Given the description of an element on the screen output the (x, y) to click on. 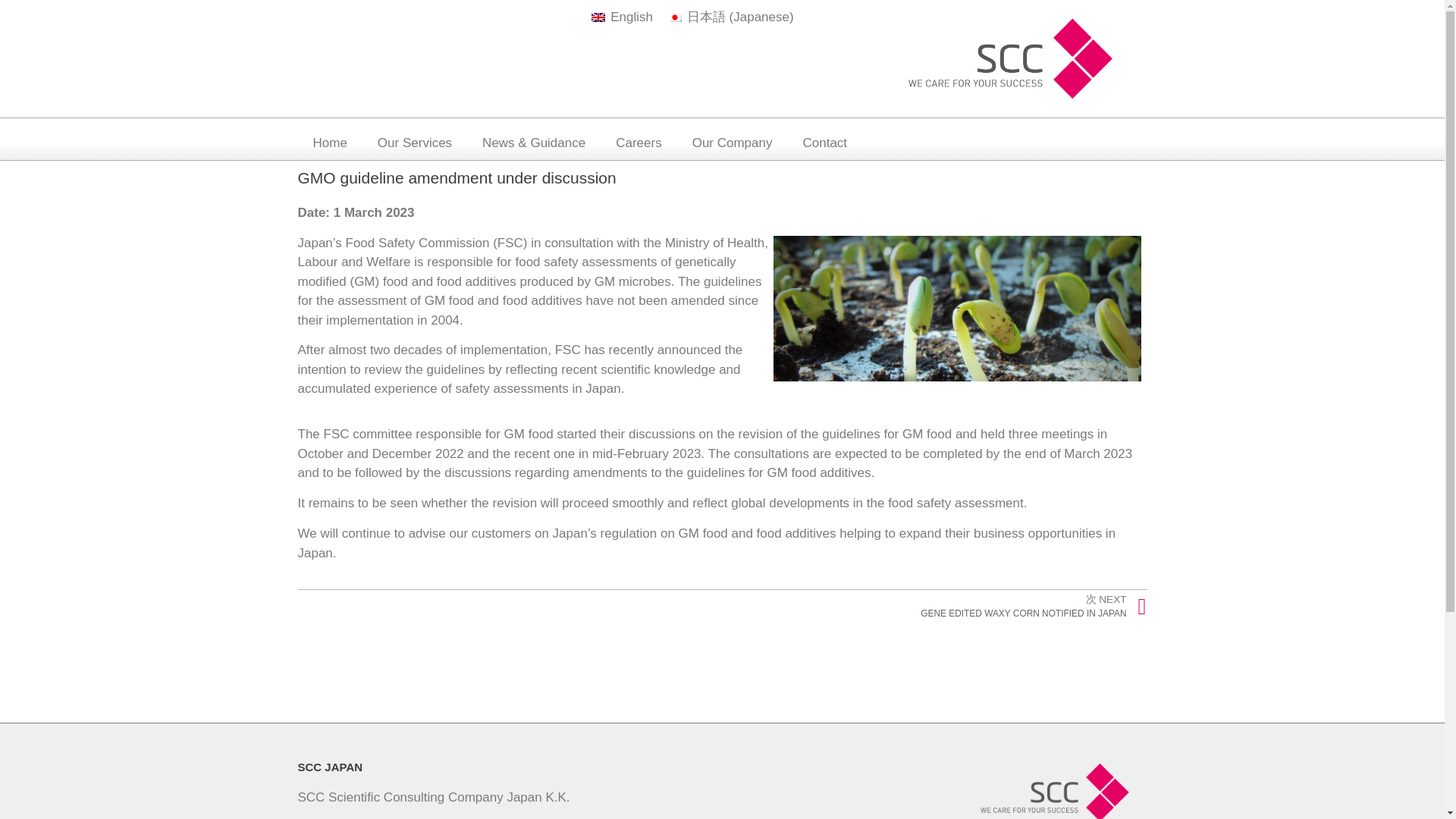
Home (329, 143)
Careers (638, 143)
Contact (824, 143)
Our Services (414, 143)
Our Company (732, 143)
English (622, 16)
